Given the description of an element on the screen output the (x, y) to click on. 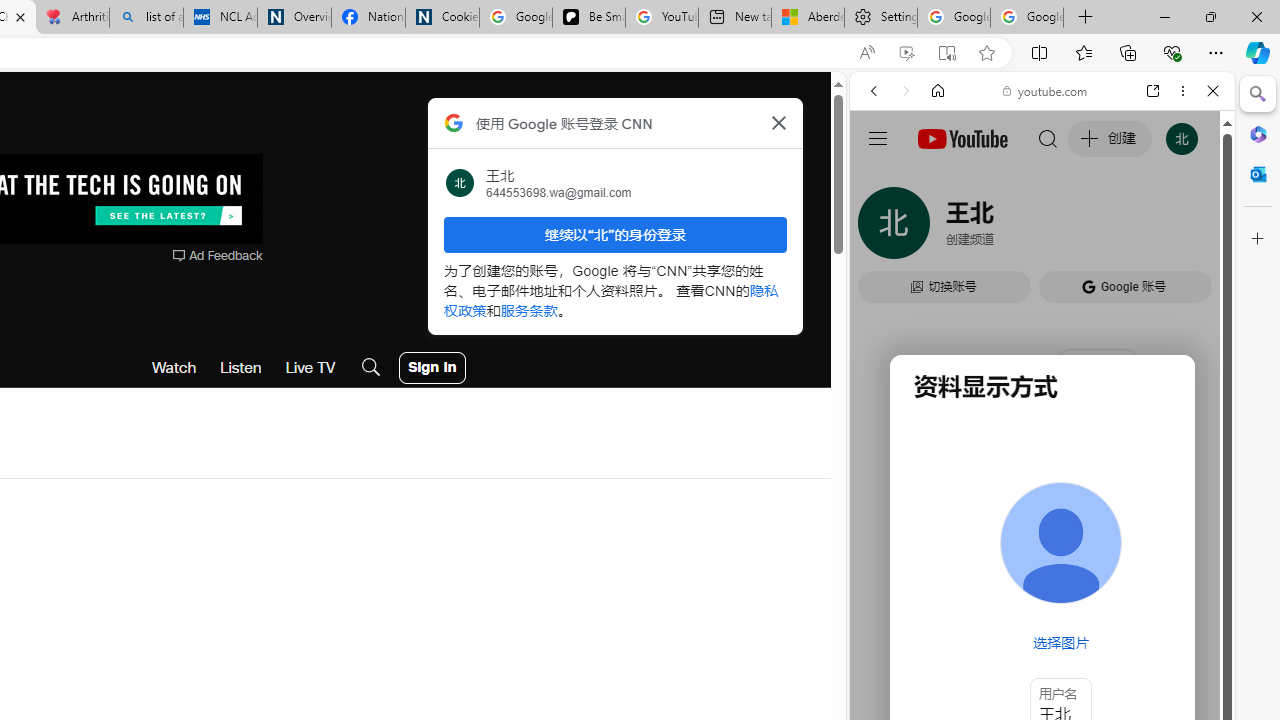
Cookies (441, 17)
Search Icon (371, 367)
Enter Immersive Reader (F9) (946, 53)
Search Filter, WEB (882, 228)
Class: Bz112c Bz112c-r9oPif (778, 122)
Google (947, 584)
youtube.com (1046, 90)
This site scope (936, 180)
Enhance video (906, 53)
Google (1042, 494)
